Given the description of an element on the screen output the (x, y) to click on. 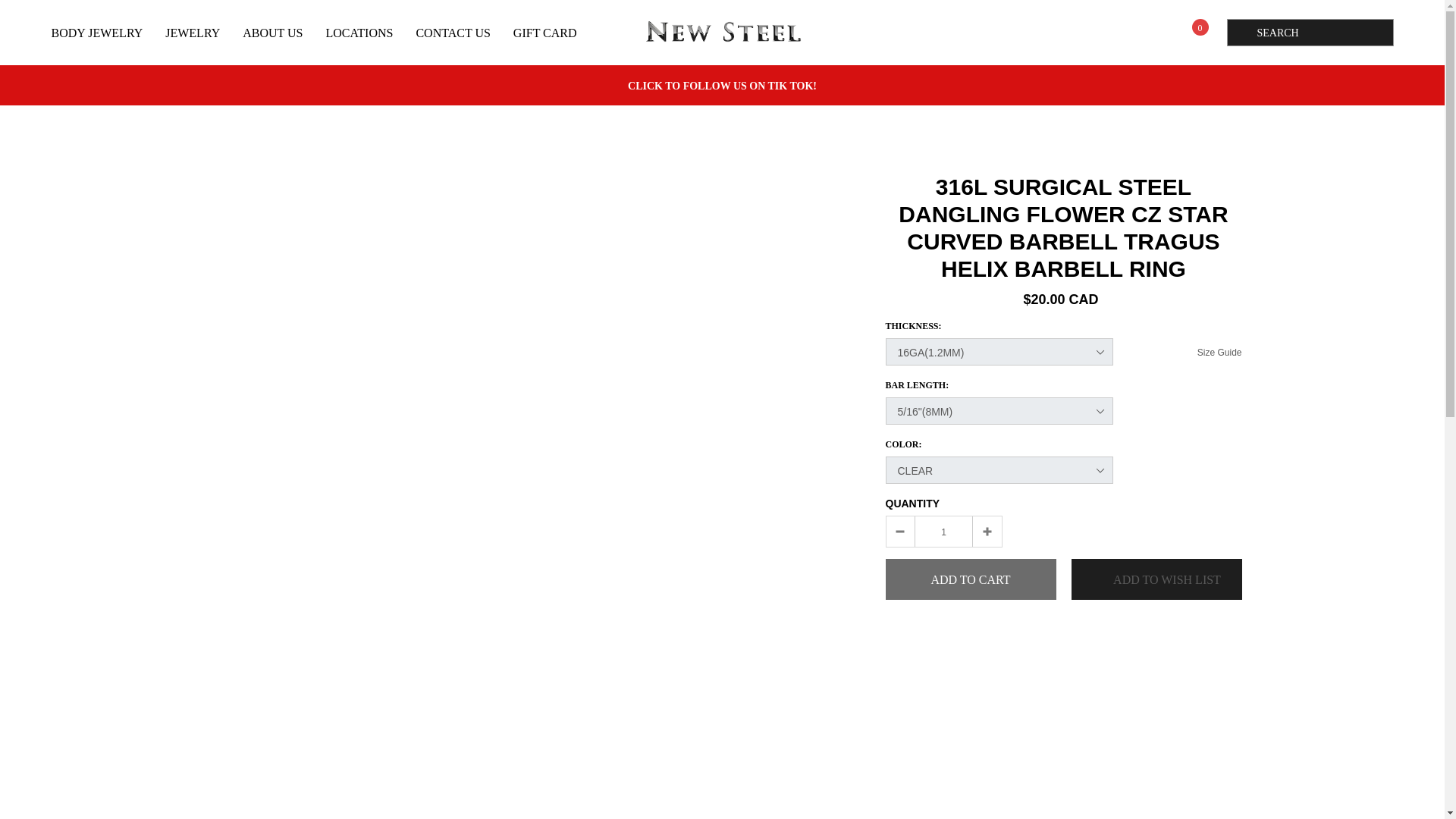
BODY JEWELRY (96, 32)
1 (943, 531)
search (1239, 32)
